Given the description of an element on the screen output the (x, y) to click on. 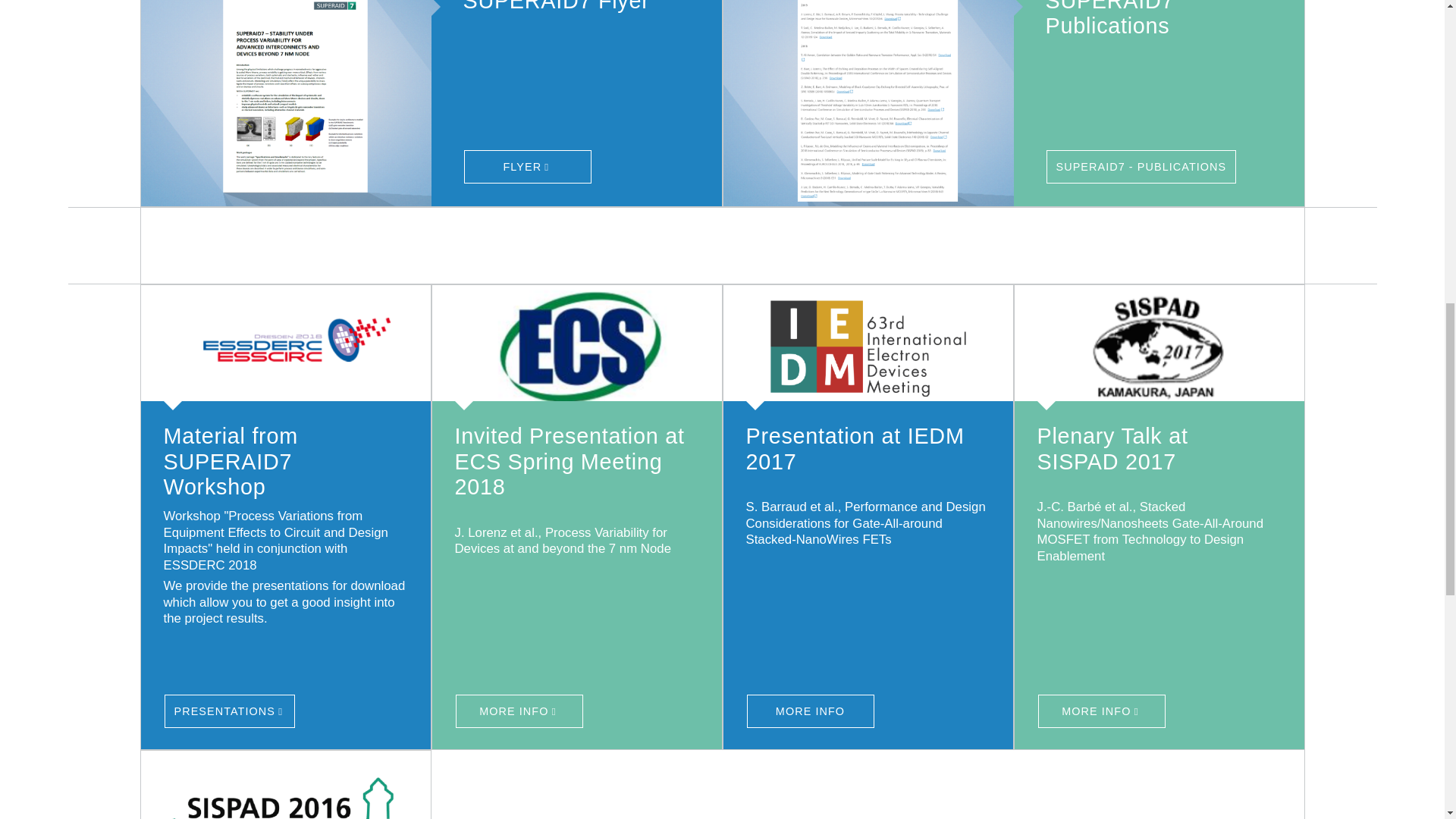
more info (285, 785)
presentations (229, 711)
presentations (285, 348)
Flyer (527, 166)
More Info (868, 348)
More Info (809, 711)
Flyer (295, 104)
